Given the description of an element on the screen output the (x, y) to click on. 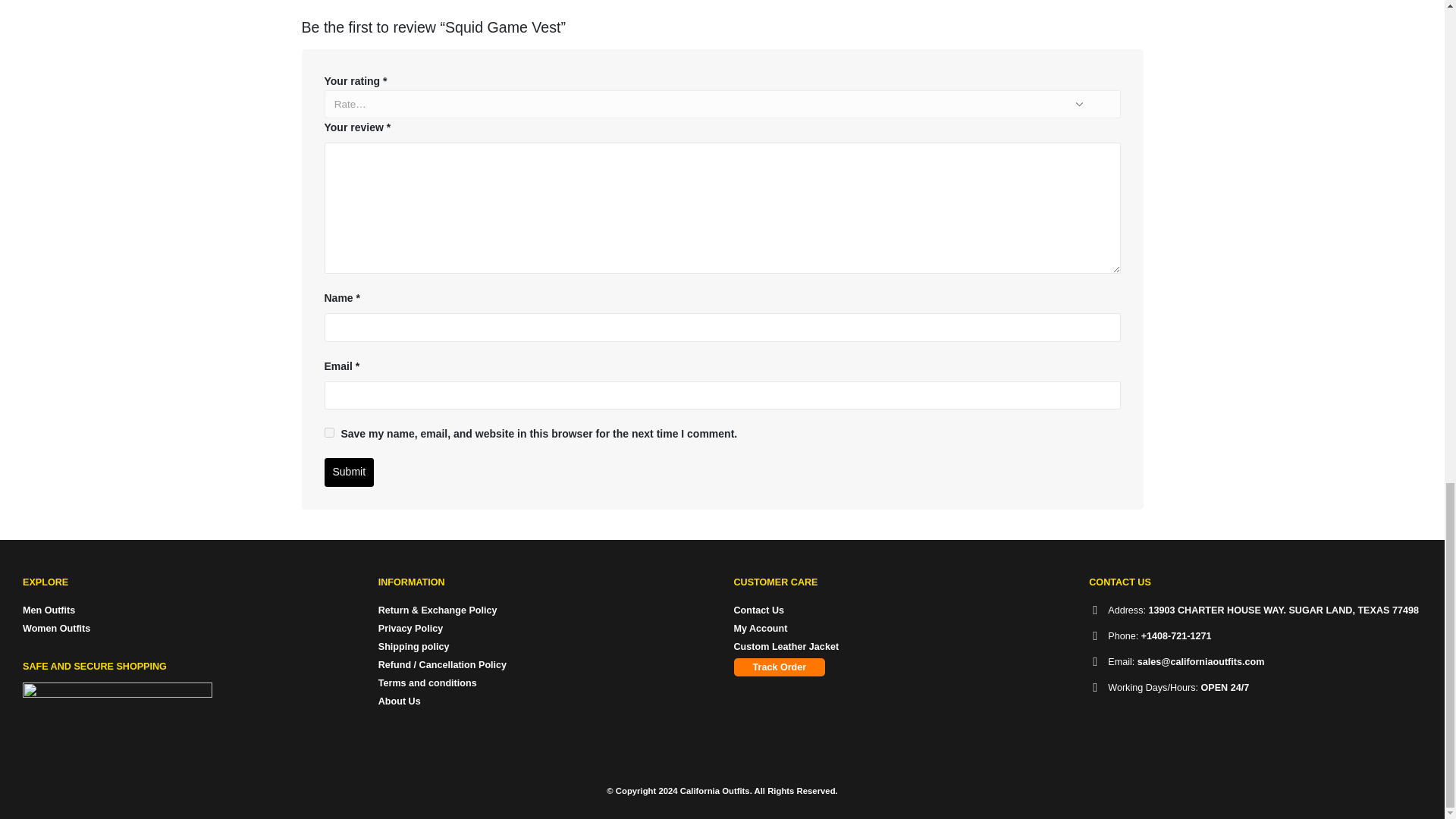
My Account (760, 628)
Women Outfits (56, 628)
Terms and conditions (427, 683)
Submit (349, 471)
Contact Us (758, 610)
yes (329, 432)
Shipping policy (413, 646)
Men Outfits (49, 610)
Shipping policy (413, 646)
About Us (399, 701)
Terms and conditions (427, 683)
Privacy Policy (410, 628)
Men Outfits (49, 610)
Track Order (779, 667)
Custom Leather Jacket (786, 646)
